Given the description of an element on the screen output the (x, y) to click on. 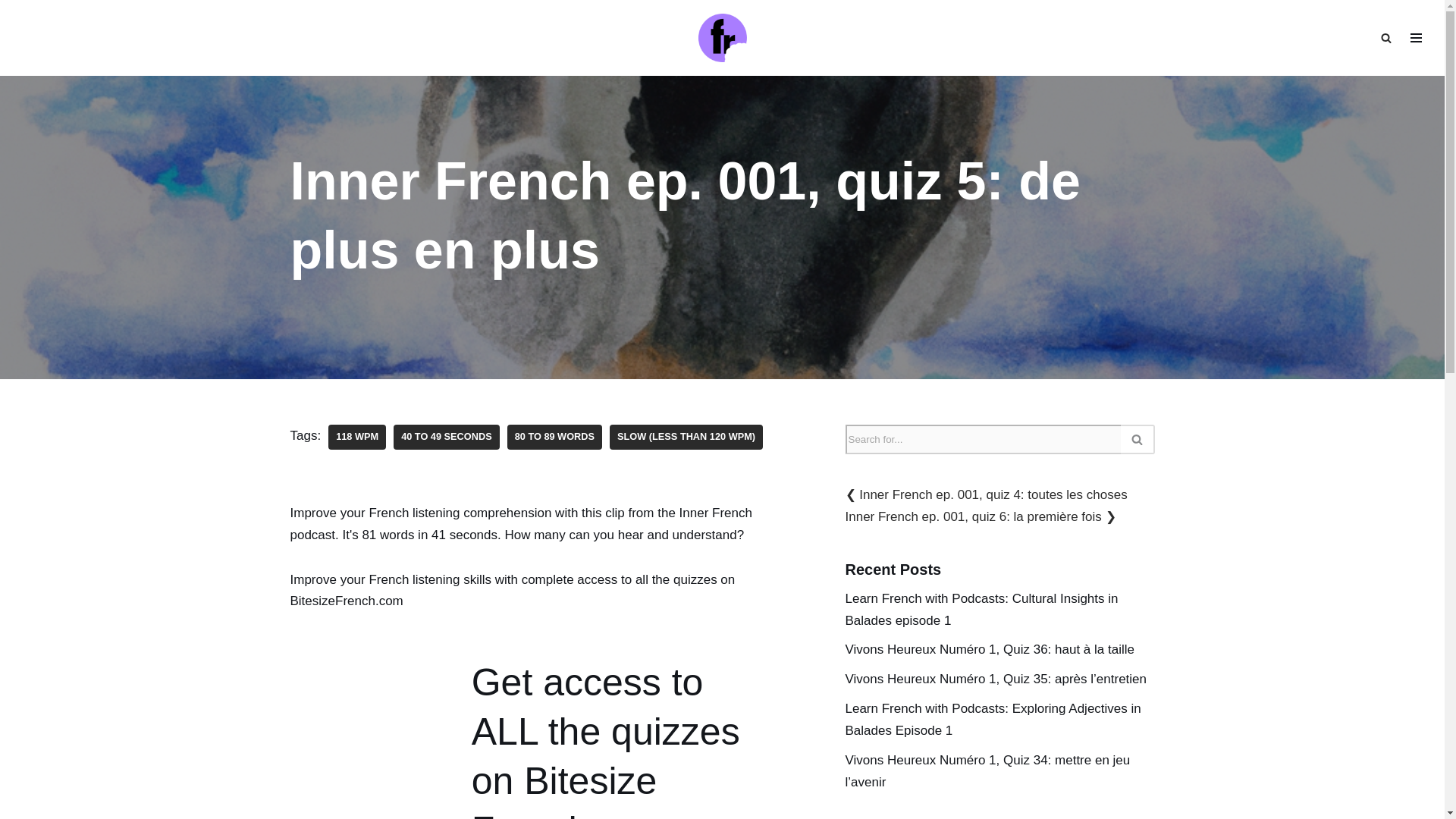
40 to 49 seconds (446, 437)
80 TO 89 WORDS (554, 437)
40 TO 49 SECONDS (446, 437)
Skip to content (11, 31)
118 wpm (357, 437)
118 WPM (357, 437)
80 to 89 words (554, 437)
Navigation Menu (1415, 37)
